Given the description of an element on the screen output the (x, y) to click on. 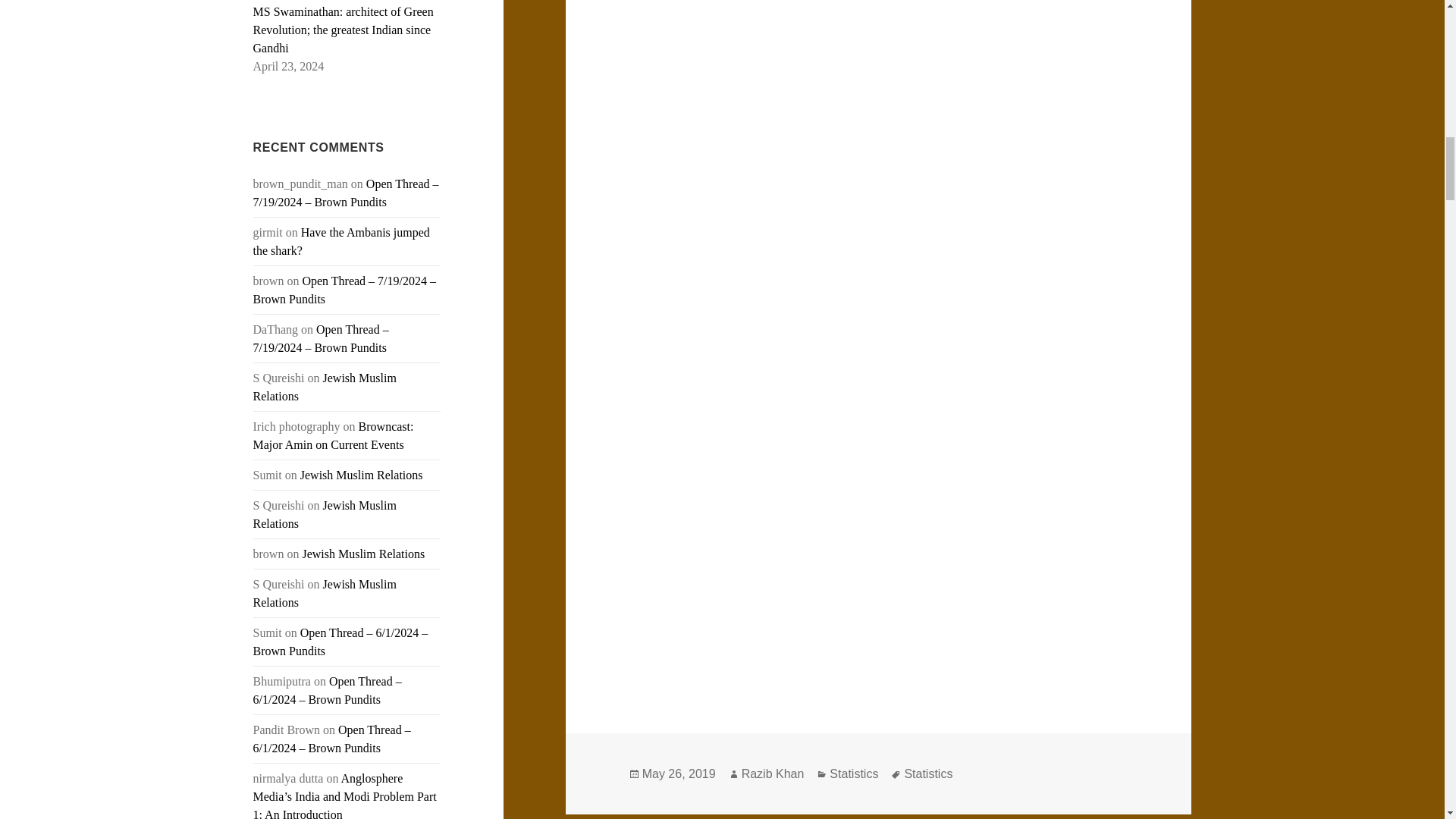
Browncast: Major Amin on Current Events (333, 435)
Jewish Muslim Relations (363, 553)
Have the Ambanis jumped the shark? (341, 241)
Jewish Muslim Relations (324, 386)
Jewish Muslim Relations (324, 513)
Jewish Muslim Relations (324, 593)
Jewish Muslim Relations (361, 474)
